Given the description of an element on the screen output the (x, y) to click on. 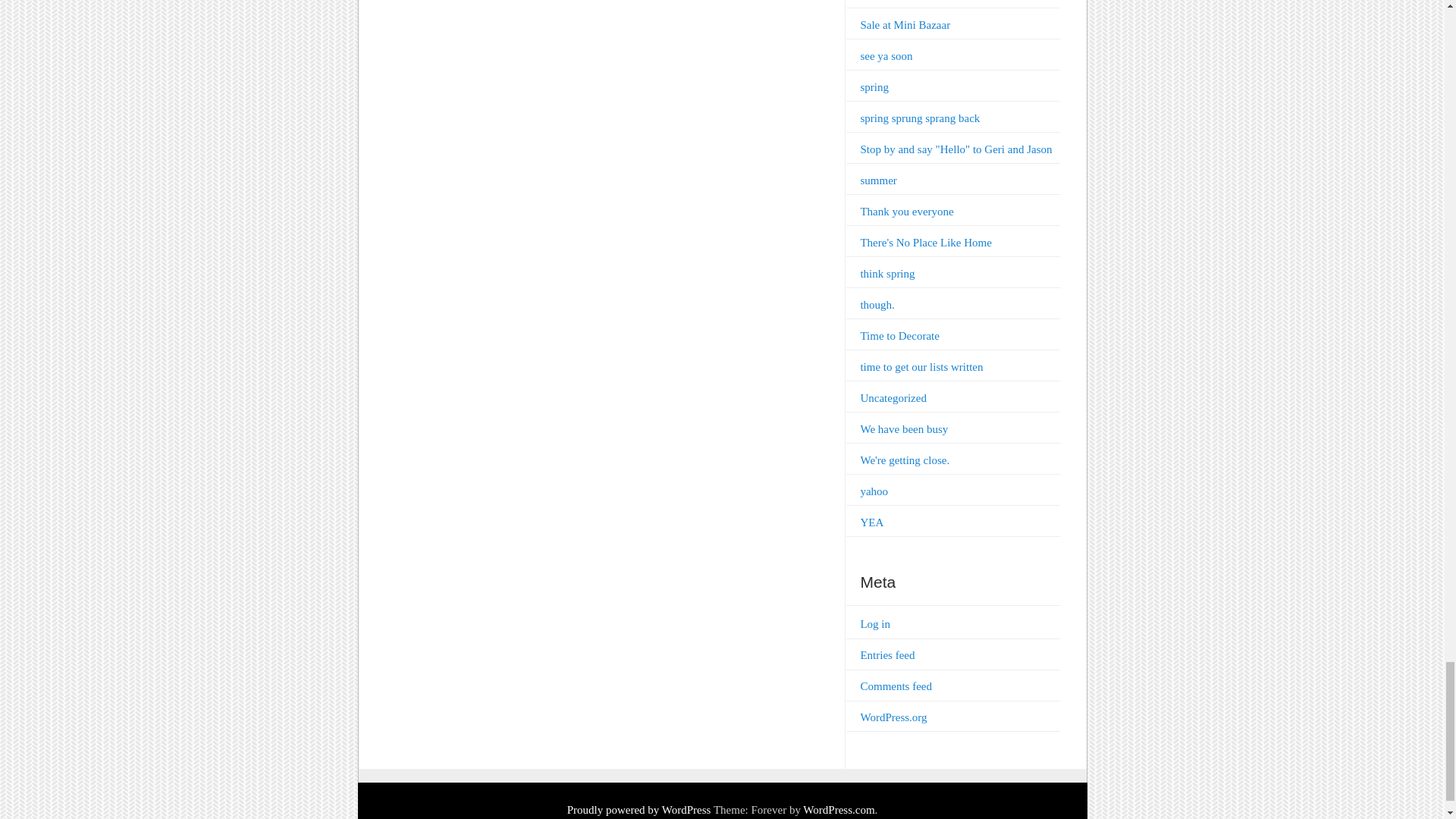
A Semantic Personal Publishing Platform (639, 809)
